Given the description of an element on the screen output the (x, y) to click on. 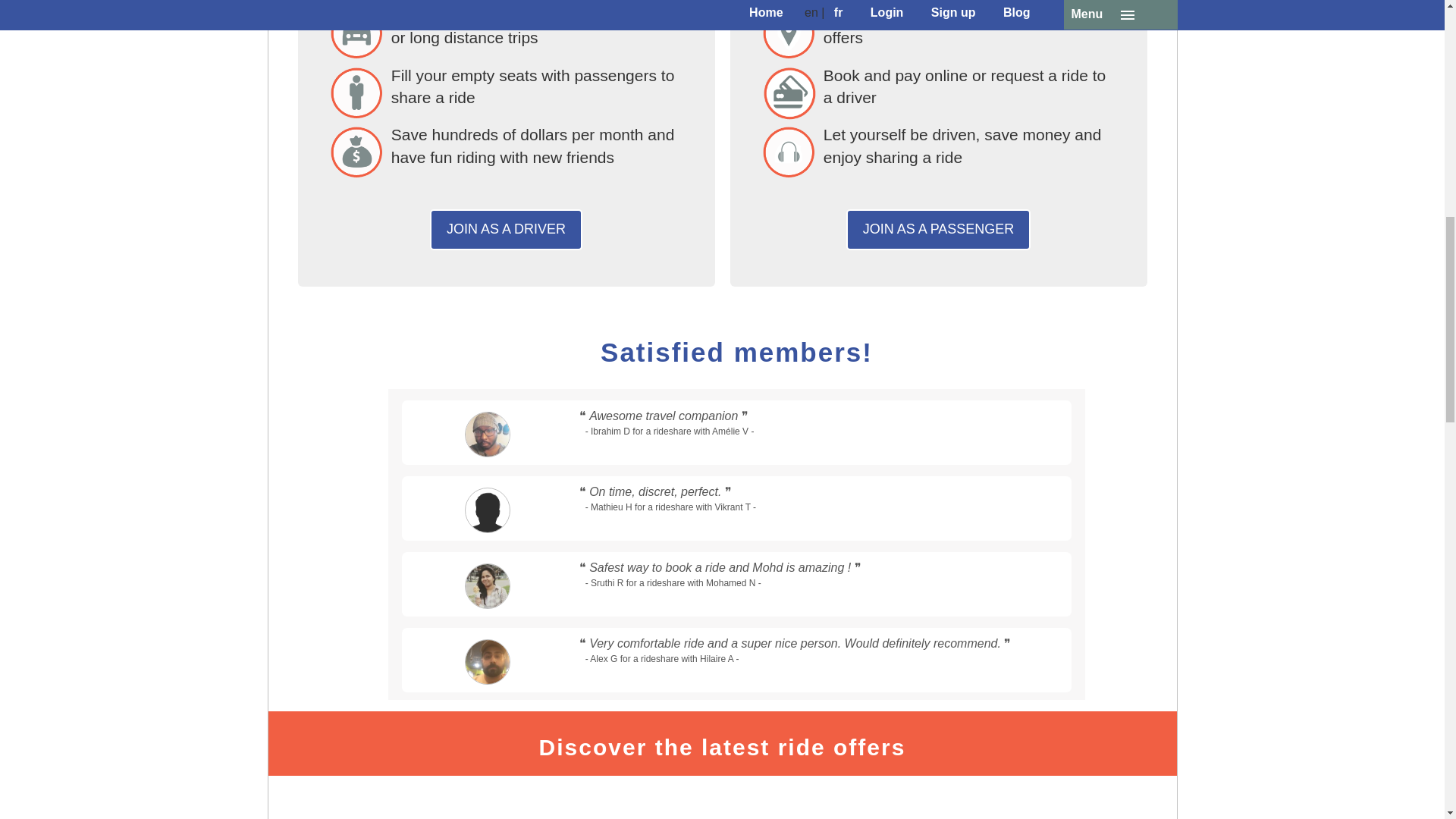
JOIN AS A PASSENGER (937, 229)
Next (994, 800)
Previous (449, 800)
JOIN AS A DRIVER (505, 229)
